Given the description of an element on the screen output the (x, y) to click on. 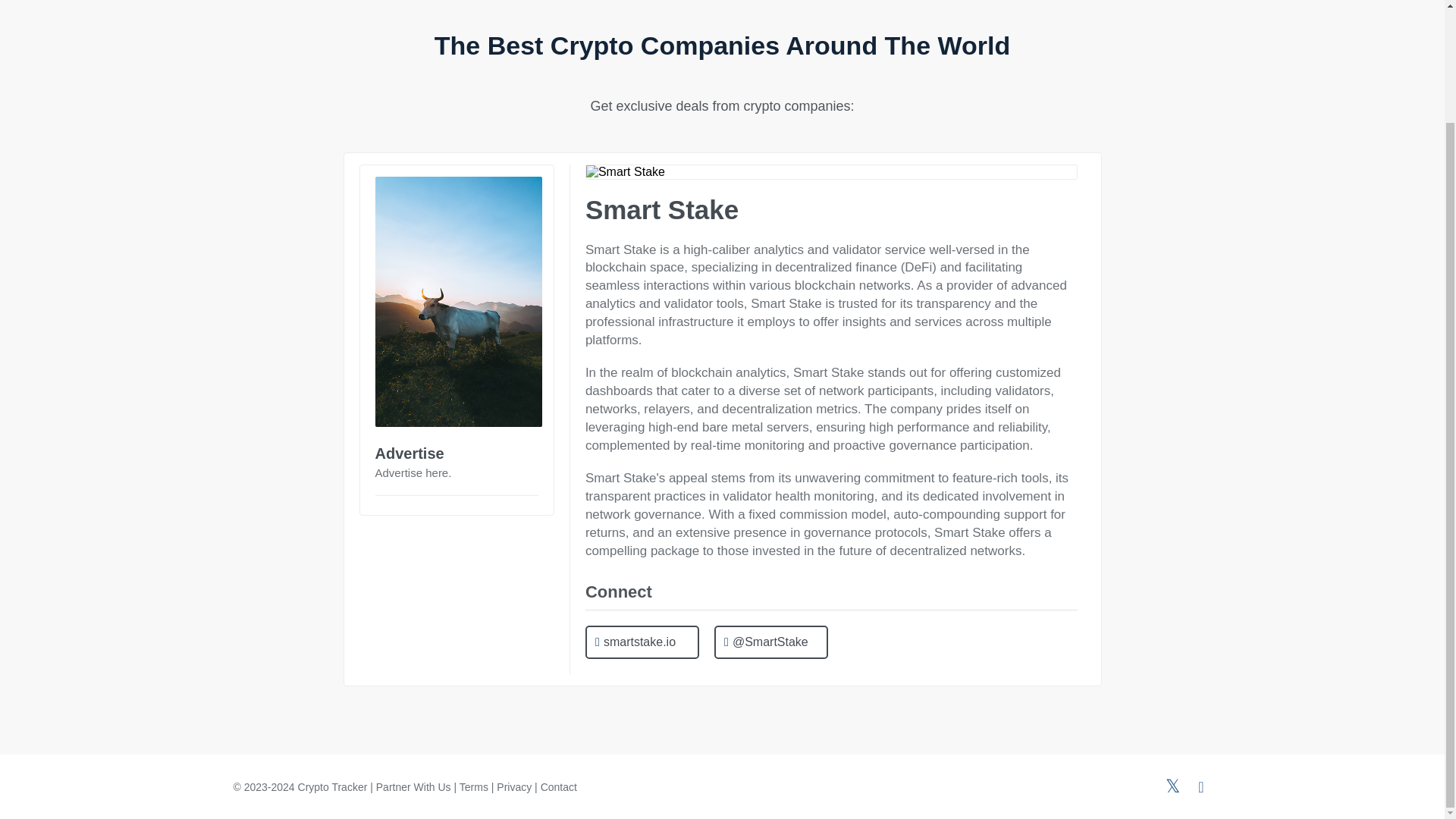
Crypto Tracker (333, 787)
Partner With Us (413, 787)
Advertise (409, 453)
Terms (473, 787)
Contact (558, 787)
Privacy (513, 787)
smartstake.io (641, 642)
